Given the description of an element on the screen output the (x, y) to click on. 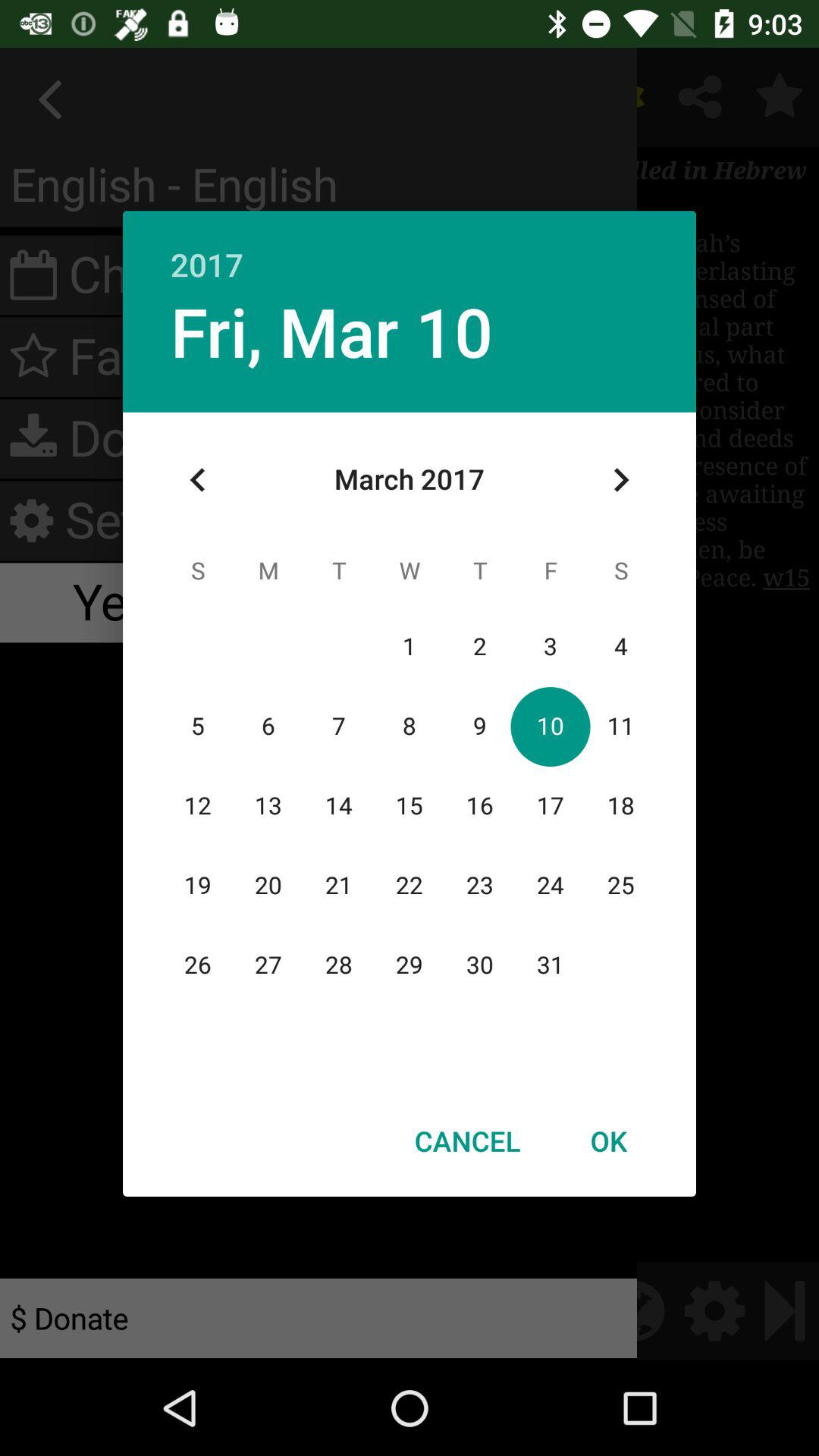
choose icon at the top left corner (197, 479)
